Given the description of an element on the screen output the (x, y) to click on. 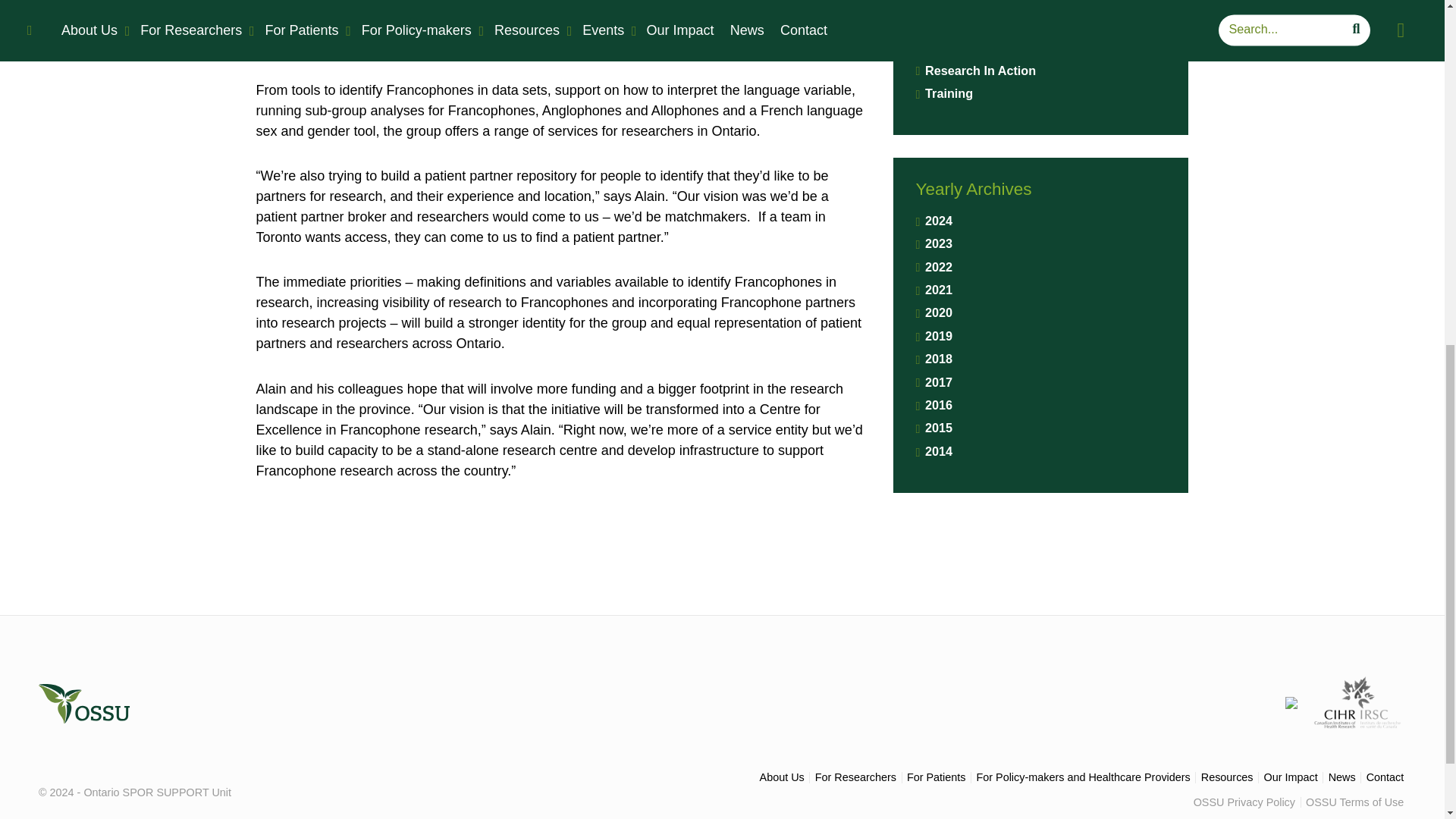
Ontario SPOR SUPPORT Unit (84, 703)
